Given the description of an element on the screen output the (x, y) to click on. 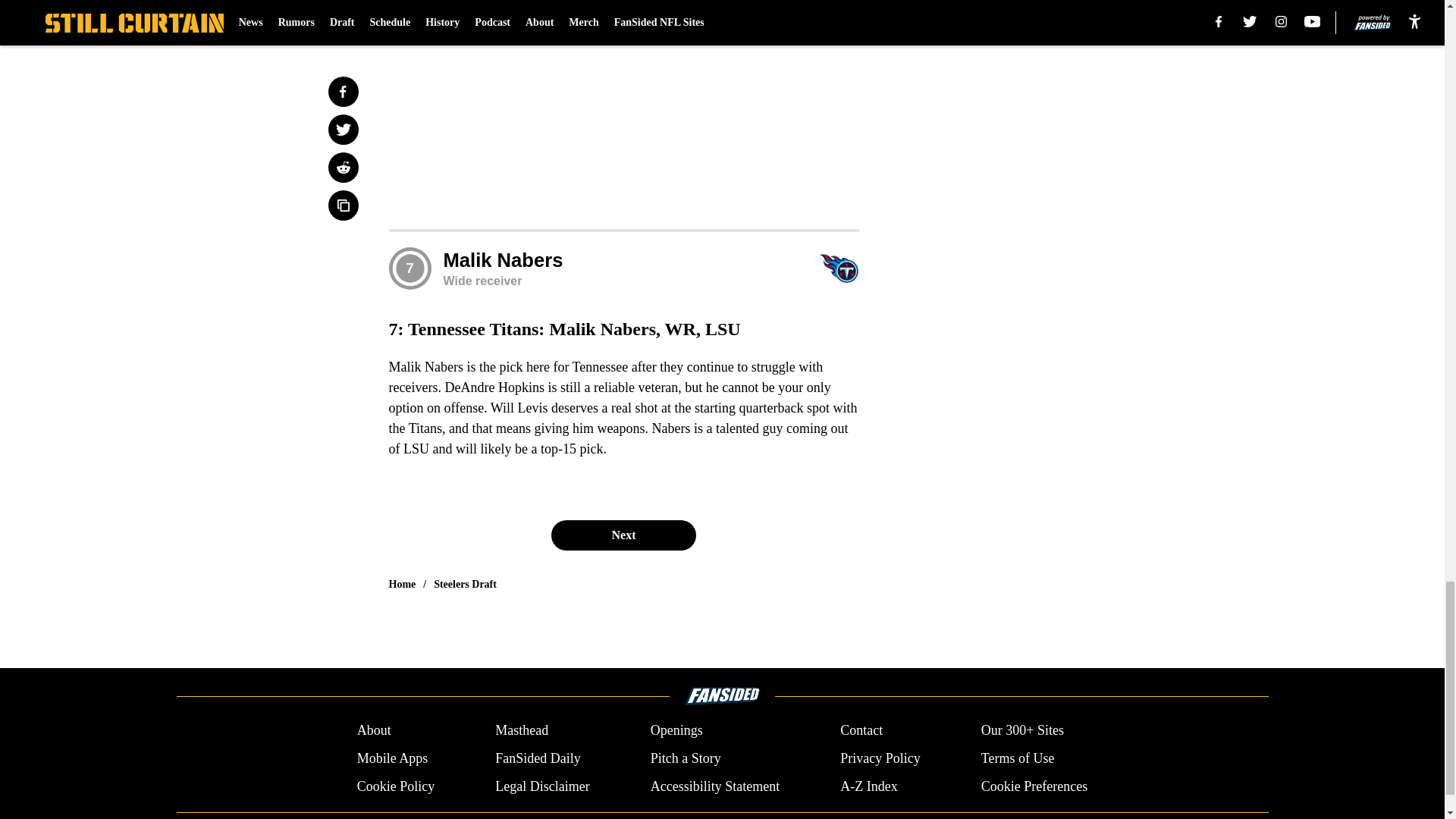
Contact (861, 730)
Openings (676, 730)
About (373, 730)
Home (401, 584)
FanSided Daily (537, 758)
Next (622, 535)
Mobile Apps (392, 758)
Masthead (521, 730)
Steelers Draft (464, 584)
